Given the description of an element on the screen output the (x, y) to click on. 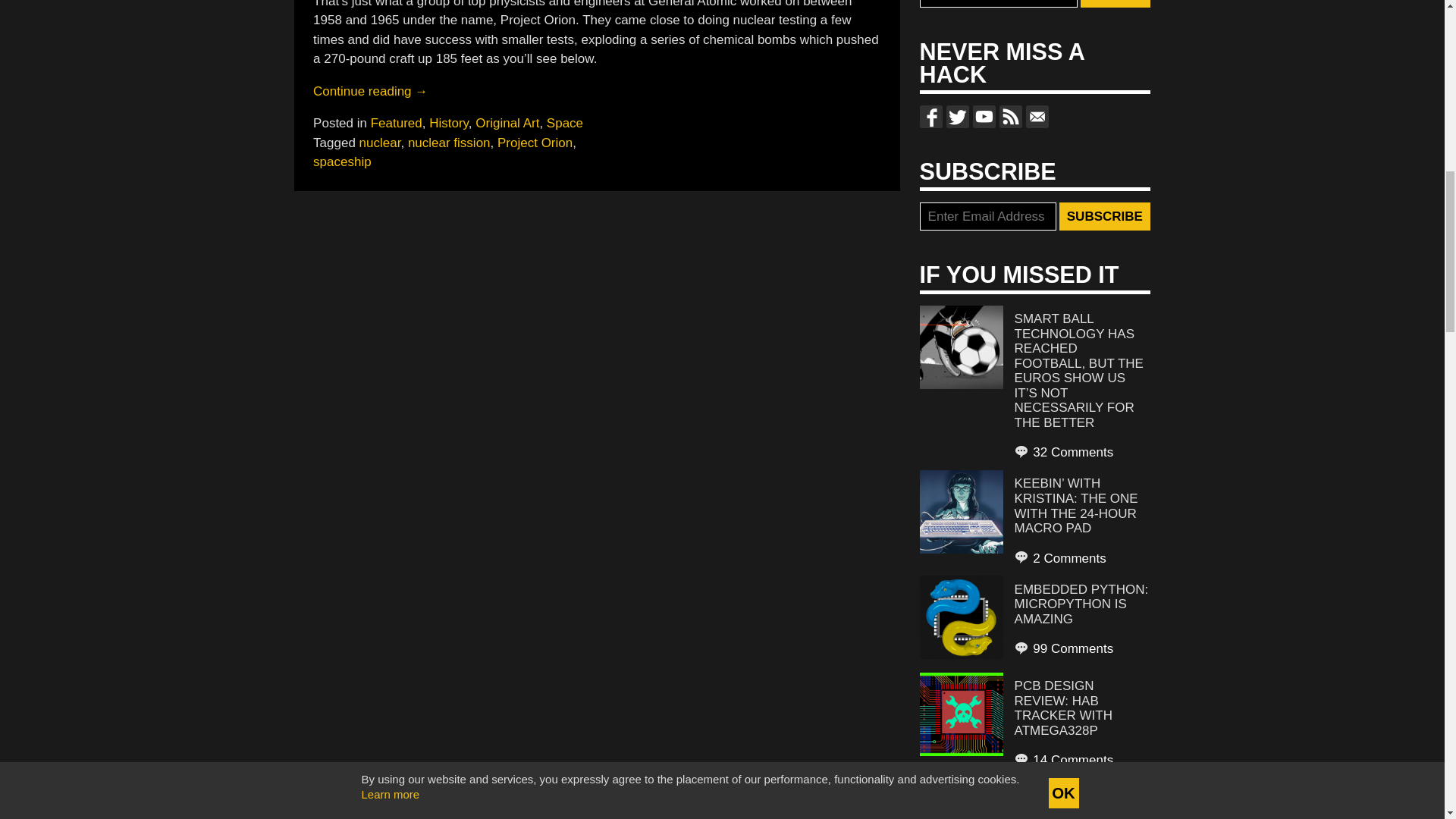
Search (1115, 4)
Space (565, 123)
History (448, 123)
spaceship (342, 161)
Subscribe (1104, 216)
Project Orion (534, 142)
Original Art (507, 123)
Search (1115, 4)
nuclear fission (448, 142)
nuclear (380, 142)
Featured (396, 123)
